Given the description of an element on the screen output the (x, y) to click on. 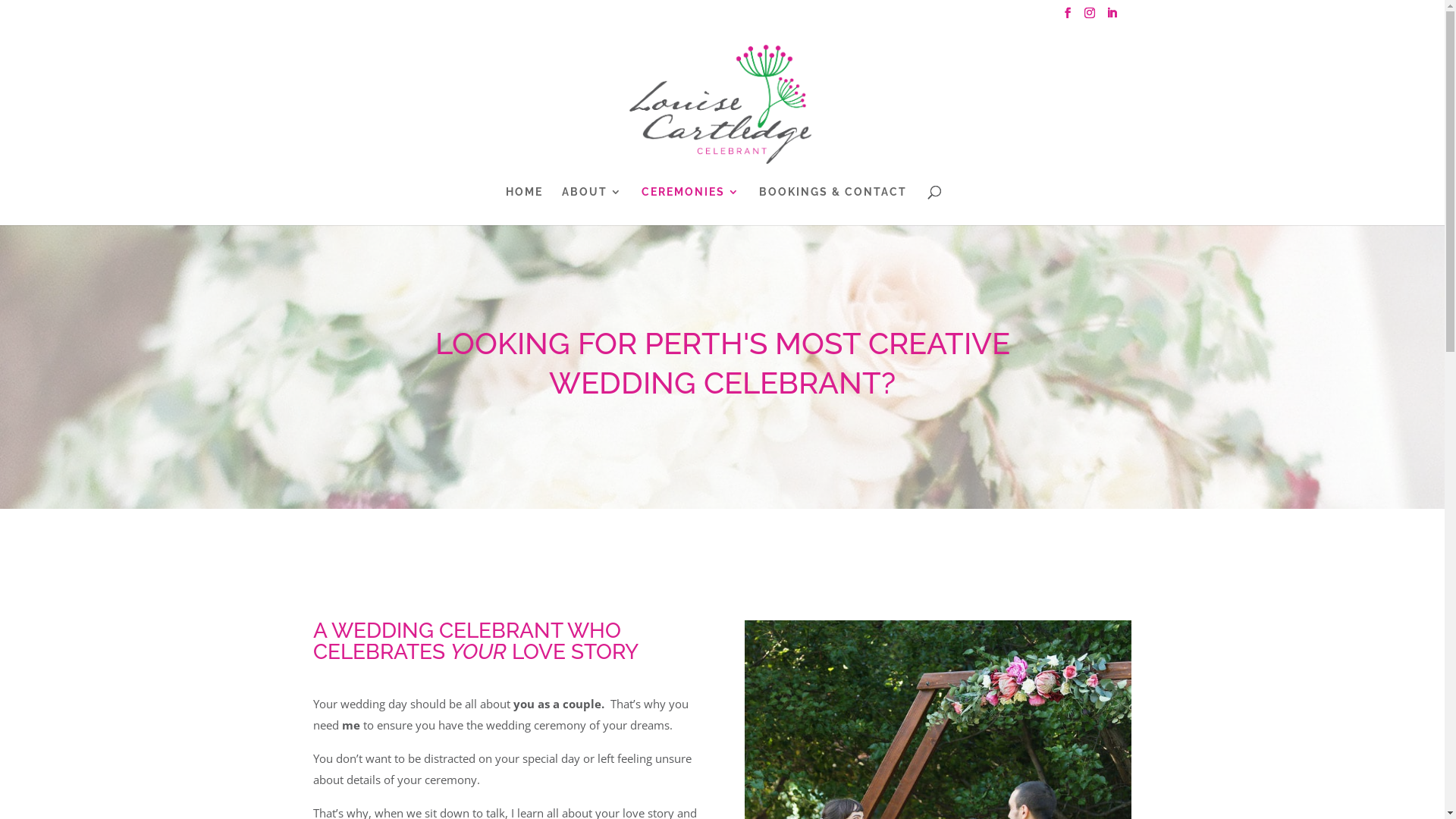
HOME Element type: text (523, 205)
CEREMONIES Element type: text (690, 205)
BOOKINGS & CONTACT Element type: text (832, 205)
ABOUT Element type: text (591, 205)
